Given the description of an element on the screen output the (x, y) to click on. 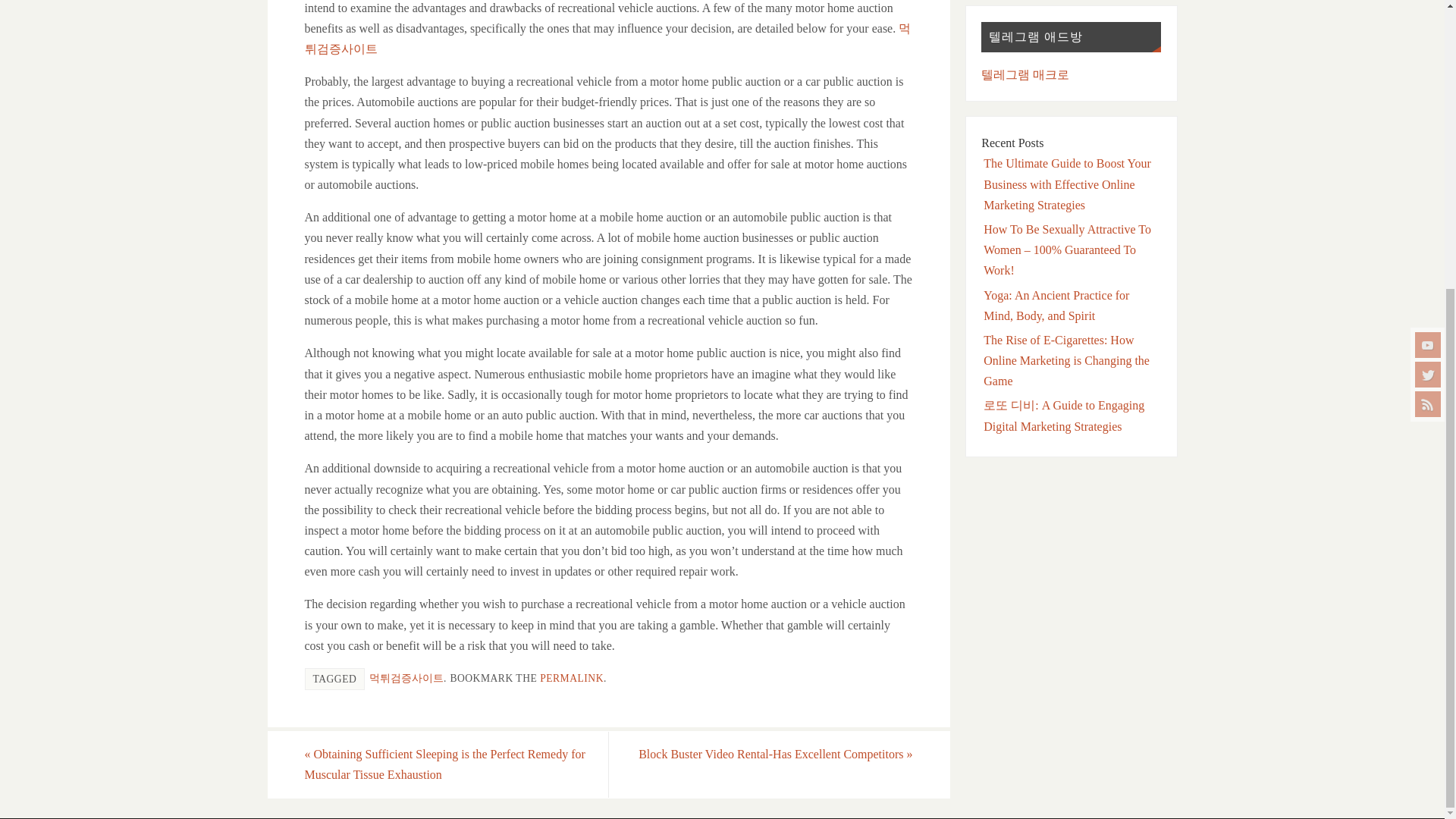
PERMALINK (572, 677)
Yoga: An Ancient Practice for Mind, Body, and Spirit (1056, 305)
